Given the description of an element on the screen output the (x, y) to click on. 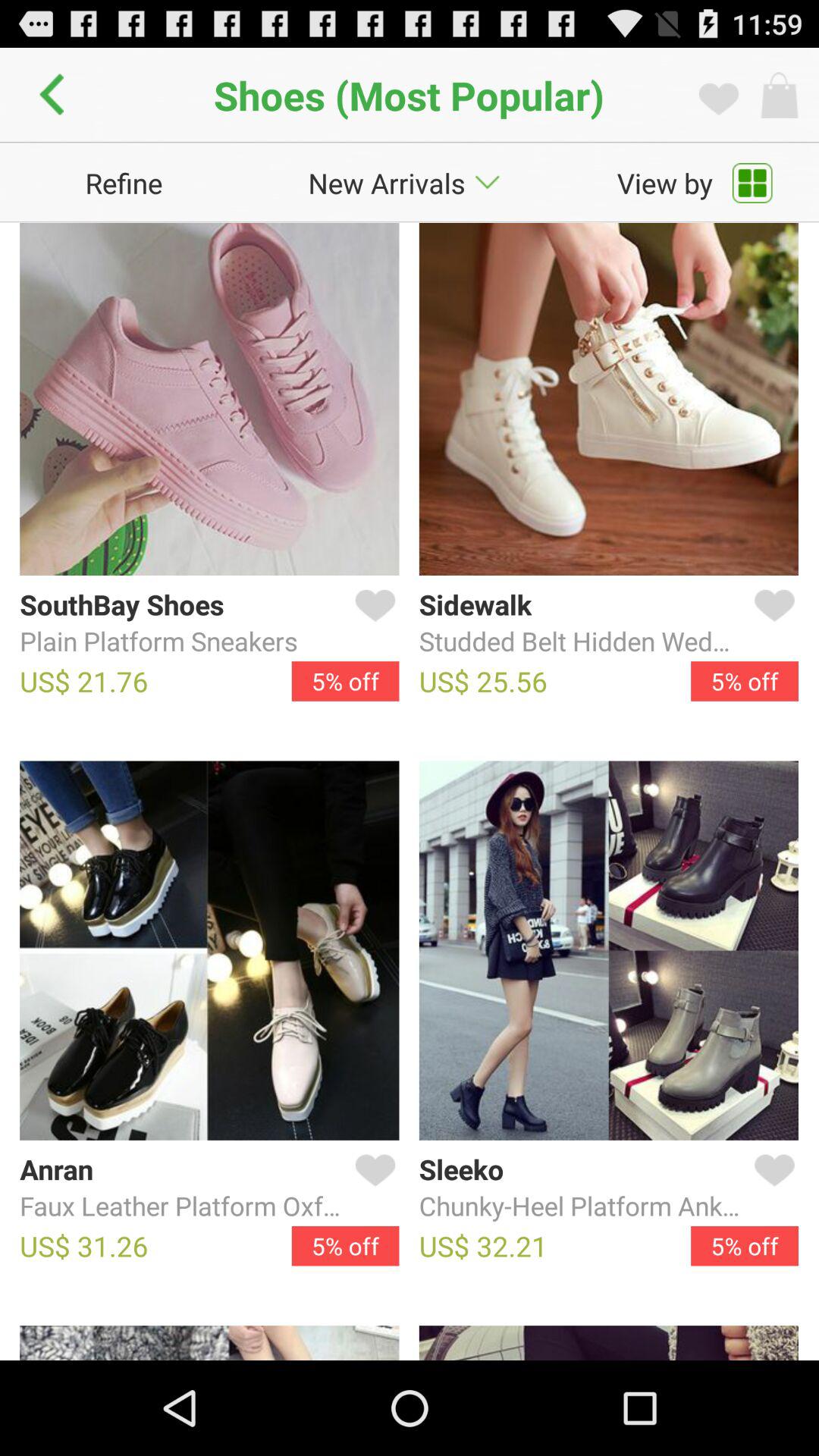
launch the item next to the shoes (most popular) (56, 94)
